Given the description of an element on the screen output the (x, y) to click on. 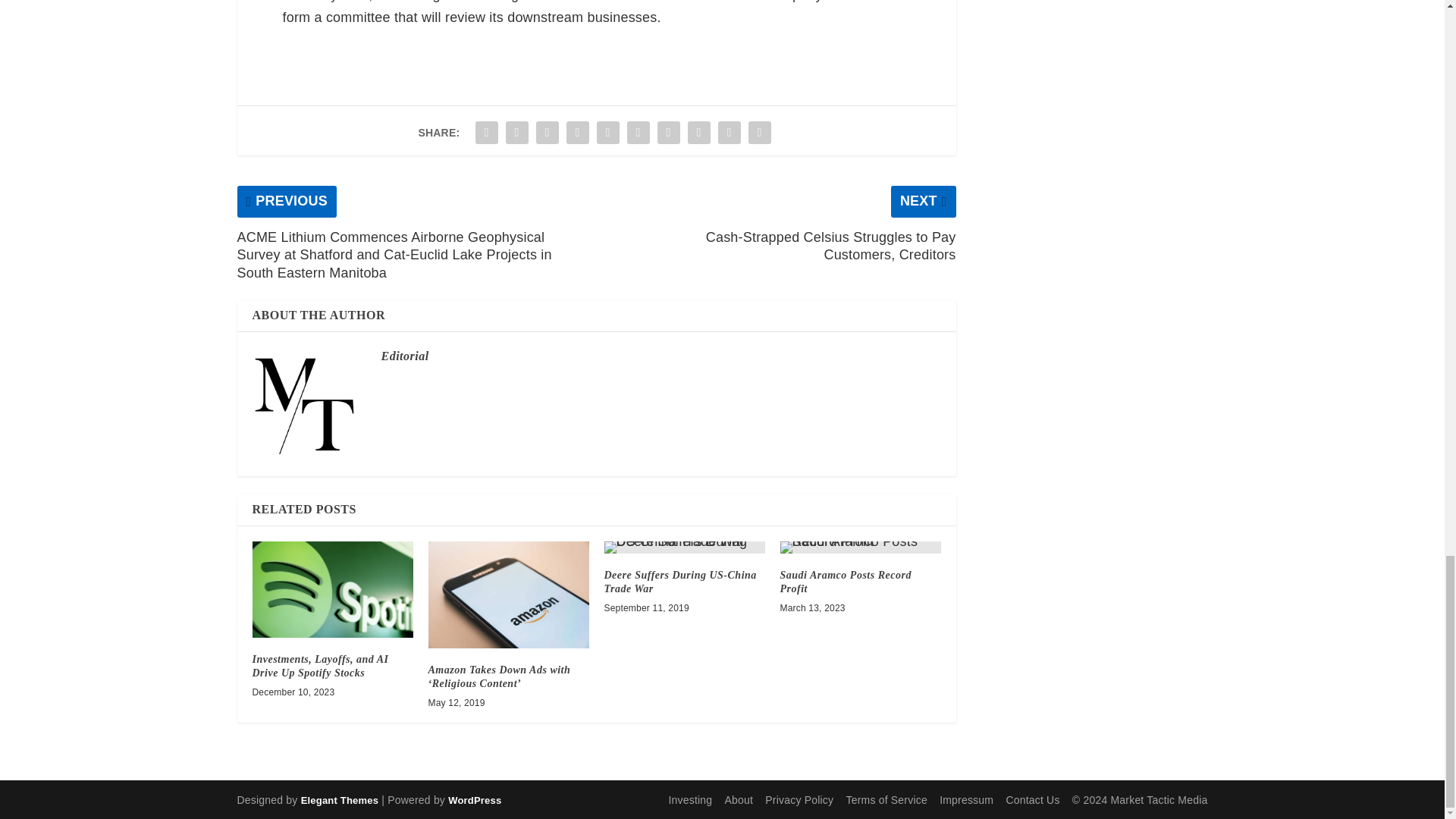
Deere Suffers During US-China Trade War (684, 547)
View all posts by Editorial (404, 355)
Investments, Layoffs, and AI Drive Up Spotify Stocks (319, 665)
Editorial (404, 355)
Deere Suffers During US-China Trade War (679, 581)
Saudi Aramco Posts Record Profit (859, 547)
Investments, Layoffs, and AI Drive Up Spotify Stocks (331, 589)
Saudi Aramco Posts Record Profit (844, 581)
